Given the description of an element on the screen output the (x, y) to click on. 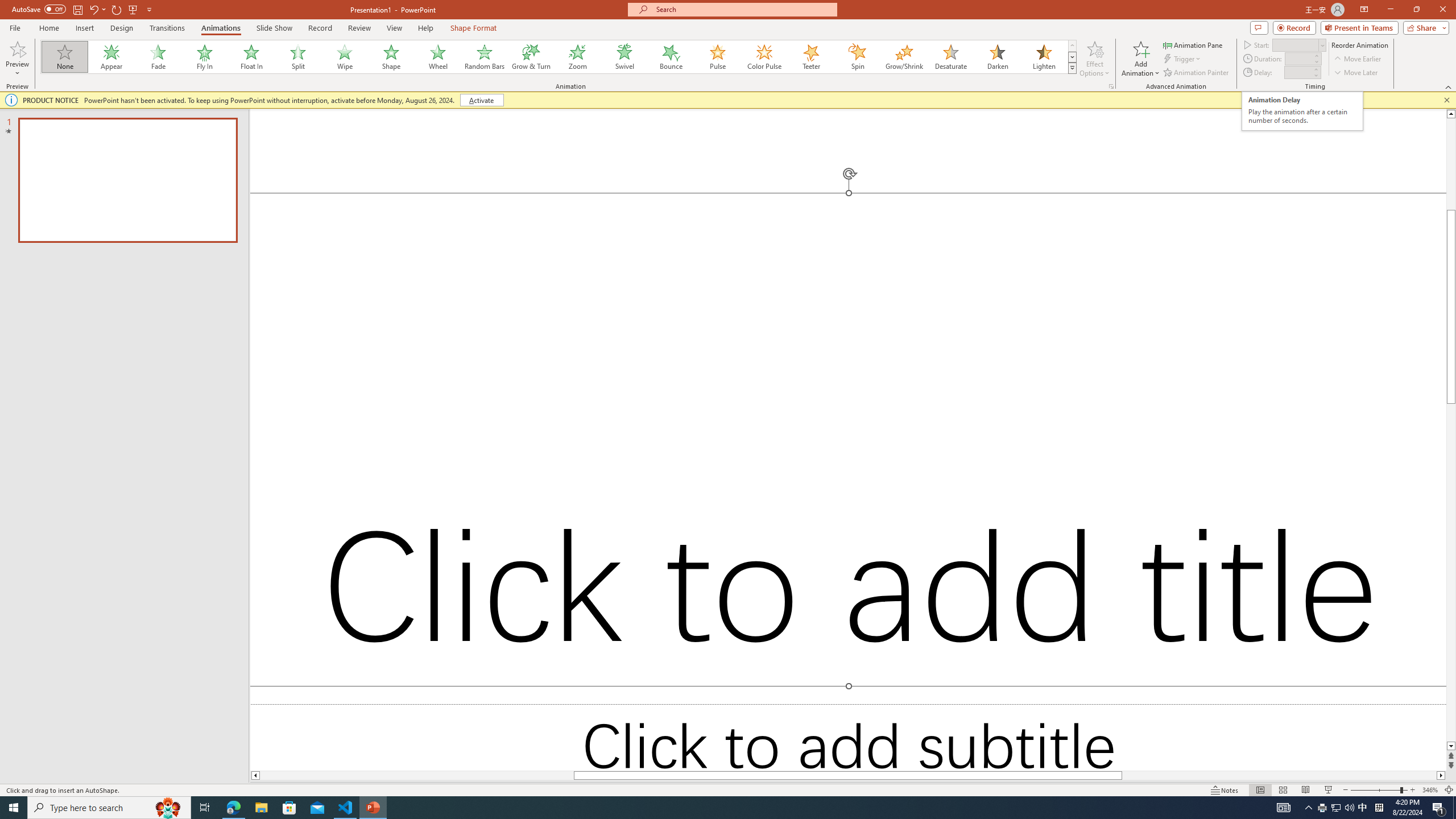
None (65, 56)
More Options... (1110, 85)
Activate (481, 100)
Spin (857, 56)
